Given the description of an element on the screen output the (x, y) to click on. 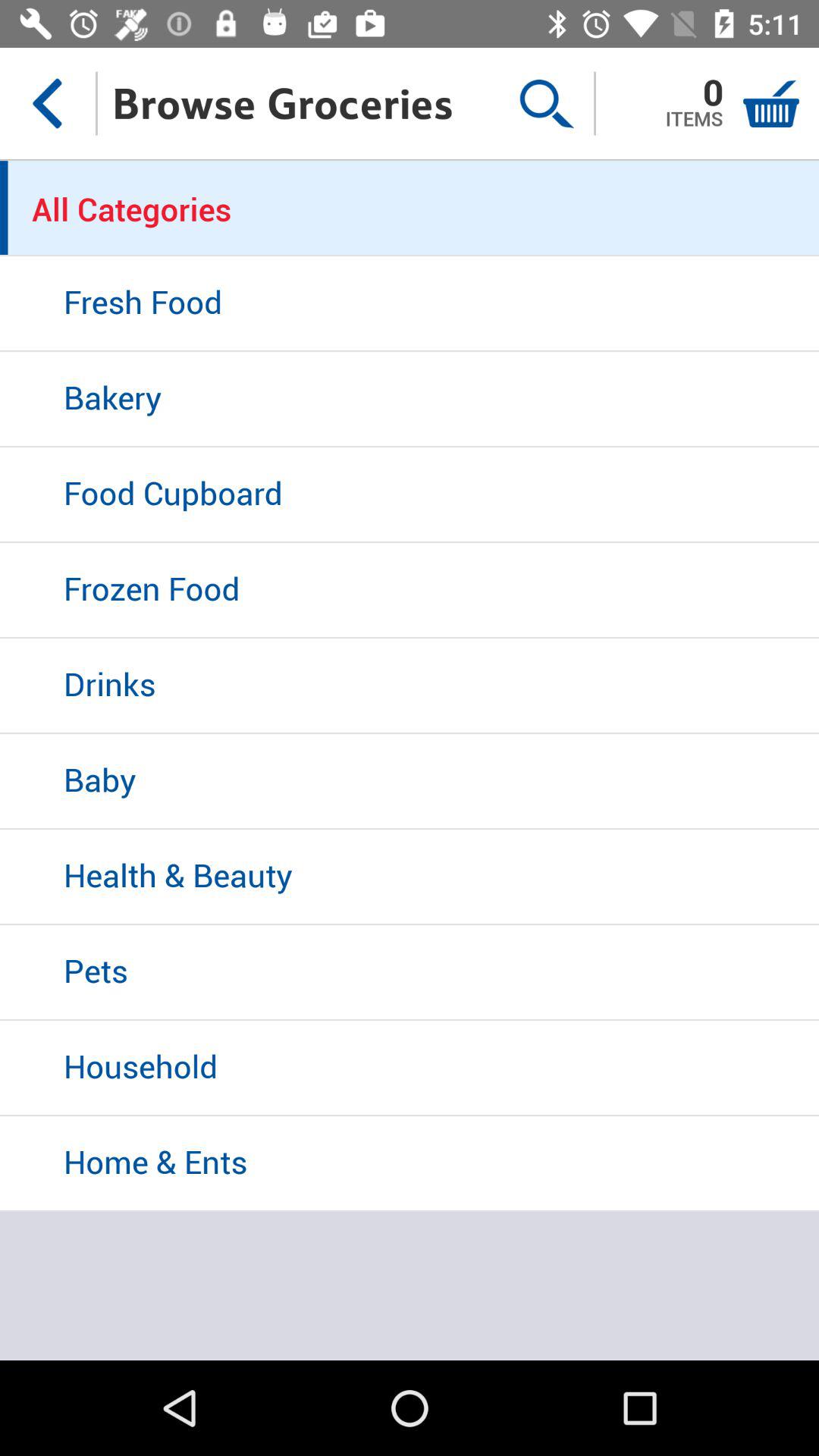
flip to the bakery (409, 399)
